Given the description of an element on the screen output the (x, y) to click on. 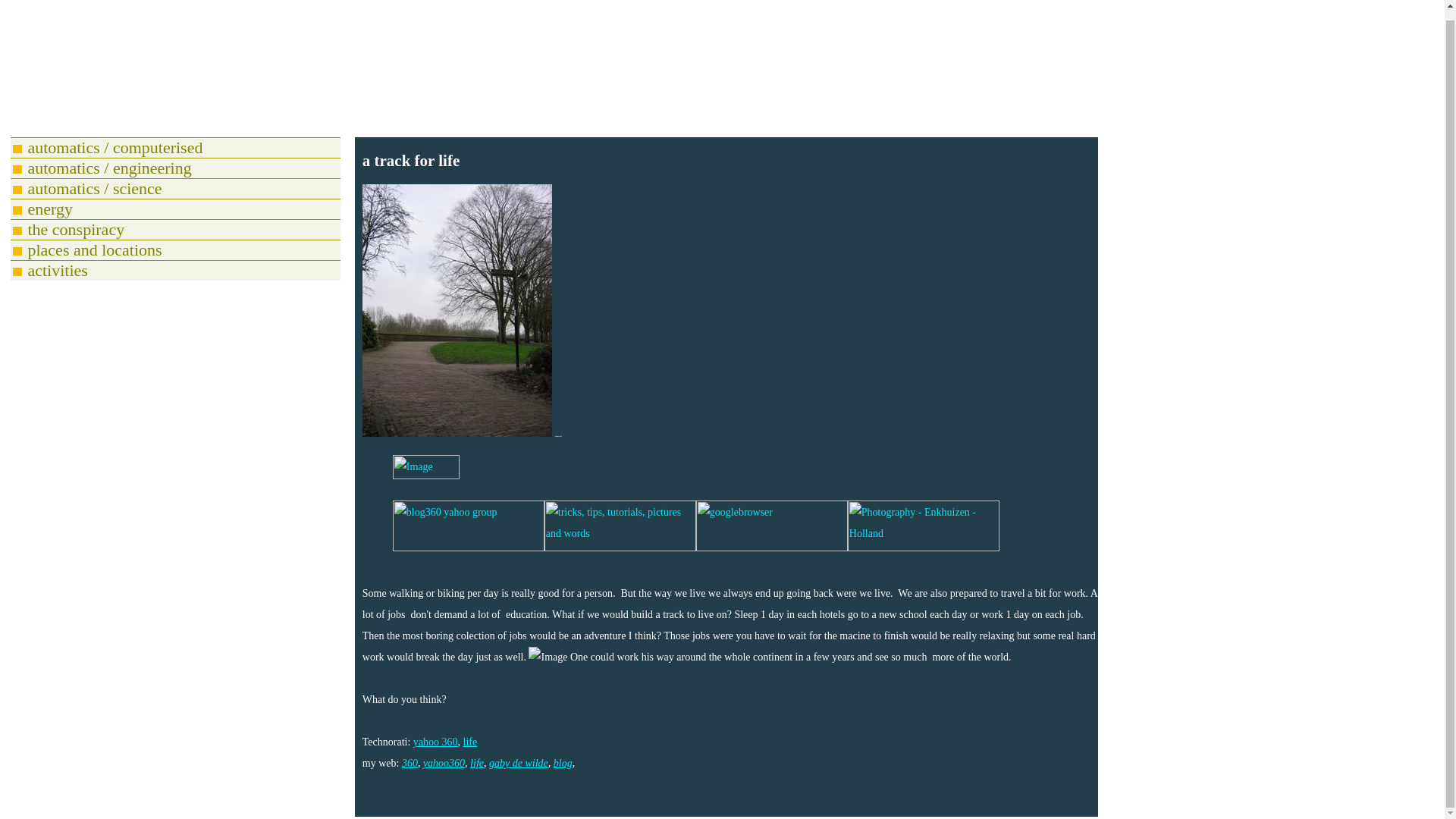
yahoo 360 (435, 741)
360 (409, 763)
life (470, 741)
gaby de wilde (518, 763)
yahoo360 (443, 763)
life (476, 763)
blog (562, 763)
